Given the description of an element on the screen output the (x, y) to click on. 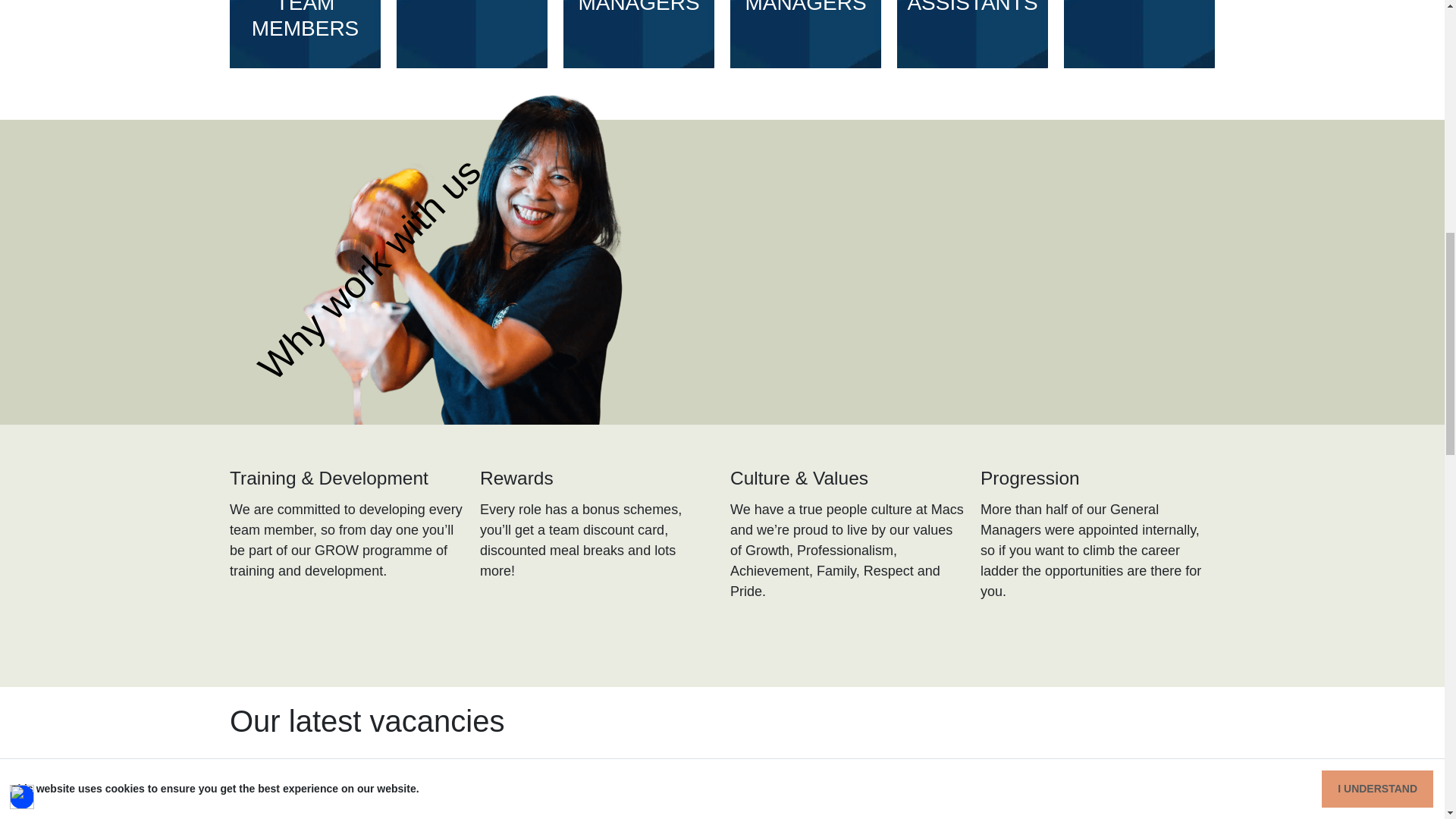
GENERAL MANAGERS (805, 36)
Why Macs Full (972, 271)
KITCHEN ASSISTANTS (972, 36)
HEAD CHEF (471, 36)
CHEFS (1139, 36)
ASSISTANT MANAGERS (638, 36)
